Given the description of an element on the screen output the (x, y) to click on. 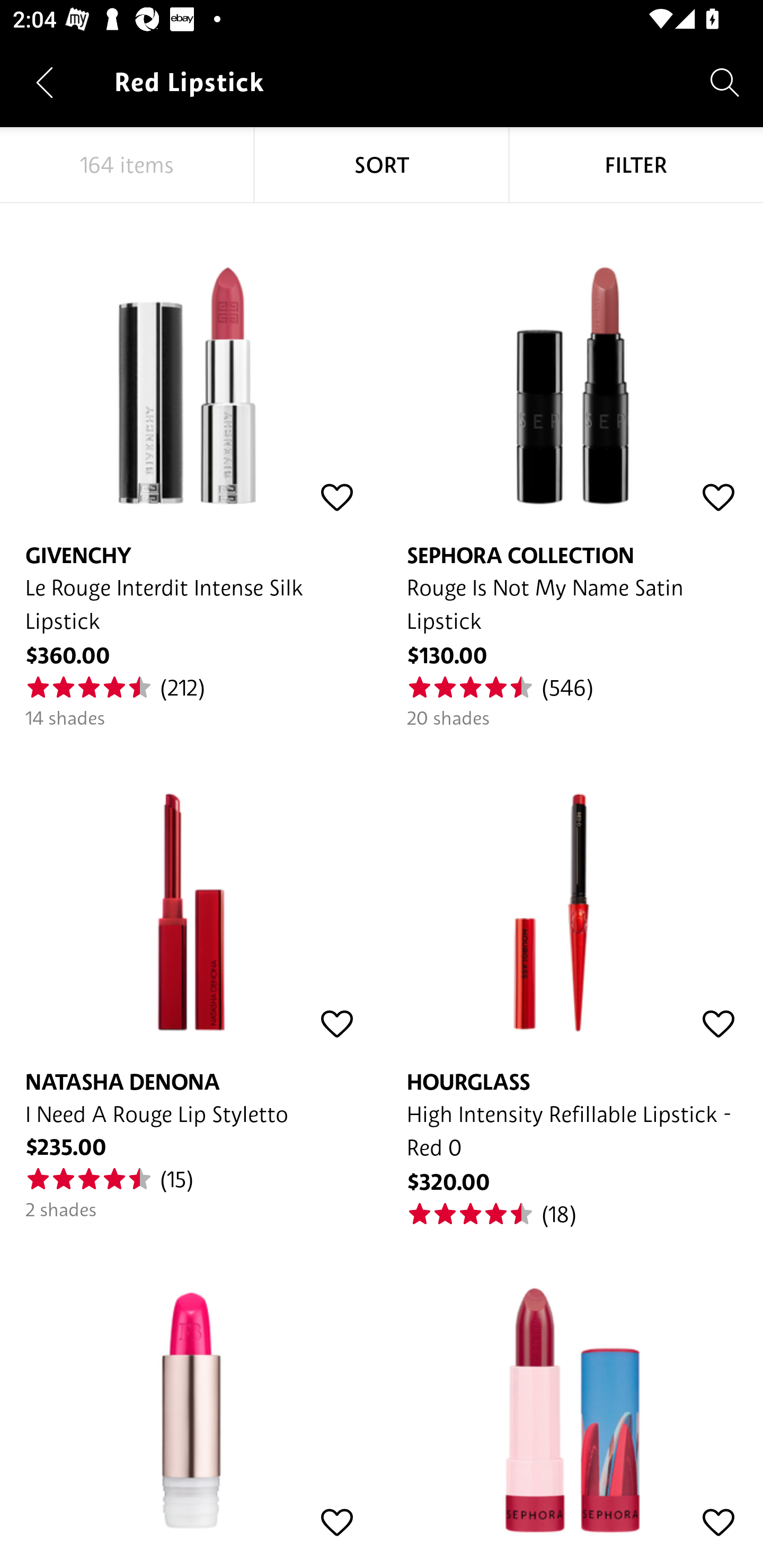
Navigate up (44, 82)
Search (724, 81)
SORT (381, 165)
FILTER (636, 165)
FENTY BEAUTY (190, 1384)
SEPHORA COLLECTION (571, 1384)
